Given the description of an element on the screen output the (x, y) to click on. 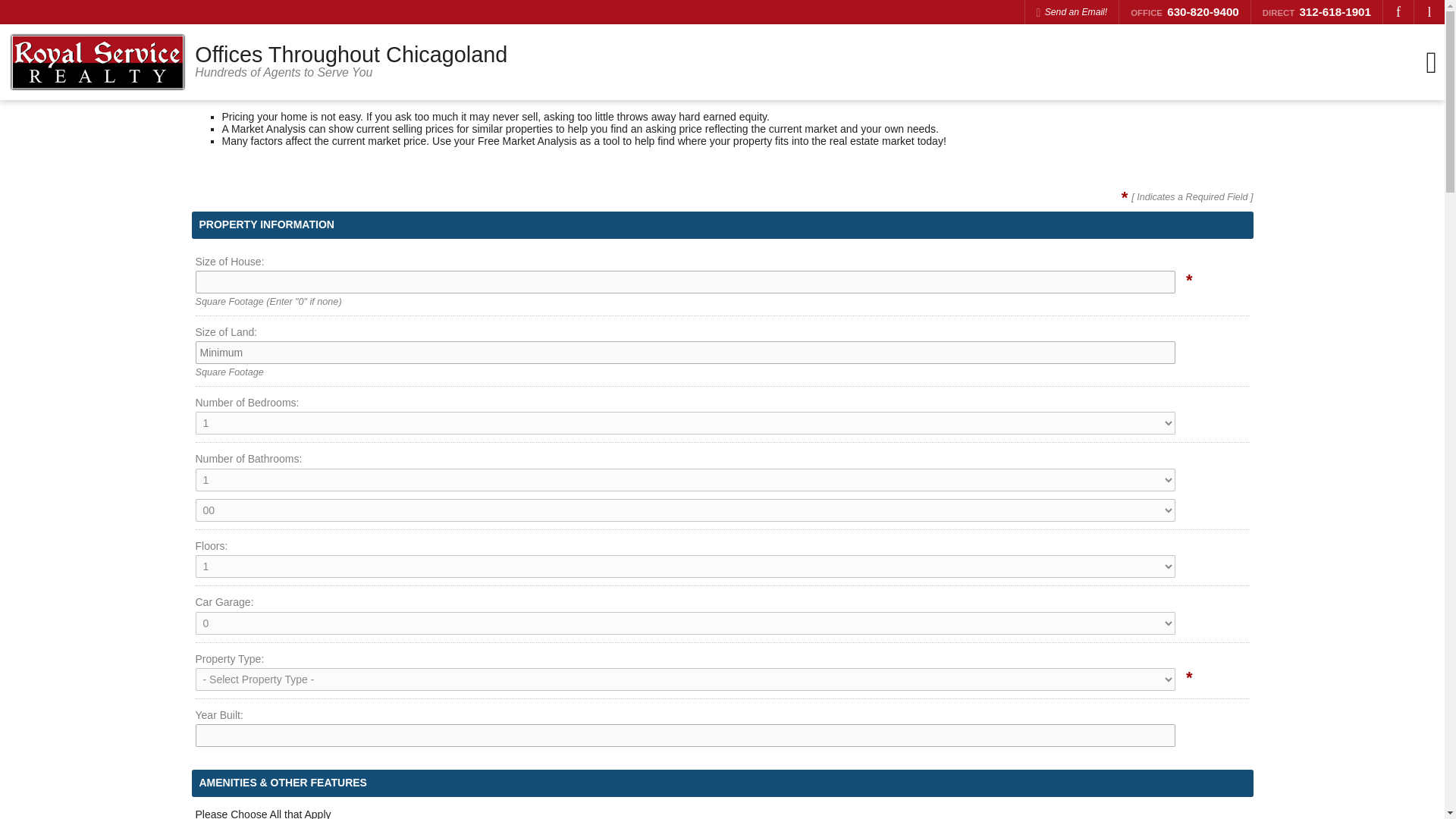
Send an Email! (1072, 12)
f (1398, 12)
Facebook (1398, 12)
